Given the description of an element on the screen output the (x, y) to click on. 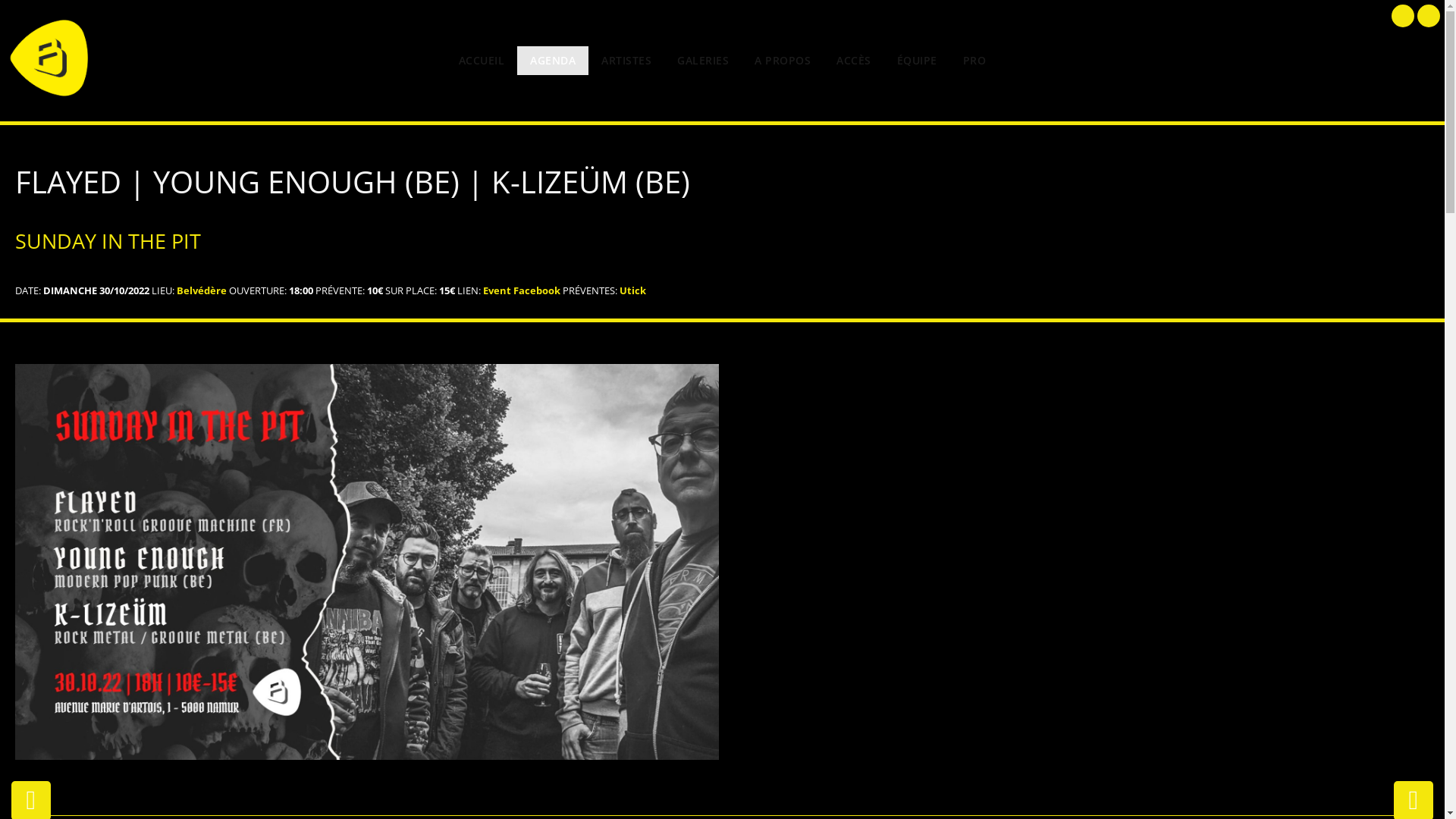
PRO Element type: text (974, 60)
A PROPOS Element type: text (782, 60)
Utick Element type: text (632, 290)
GALERIES Element type: text (702, 60)
Event Facebook Element type: text (521, 290)
SUNDAY IN THE PIT Element type: hover (366, 561)
AGENDA Element type: text (552, 60)
ARTISTES Element type: text (626, 60)
ACCUEIL Element type: text (481, 60)
